Given the description of an element on the screen output the (x, y) to click on. 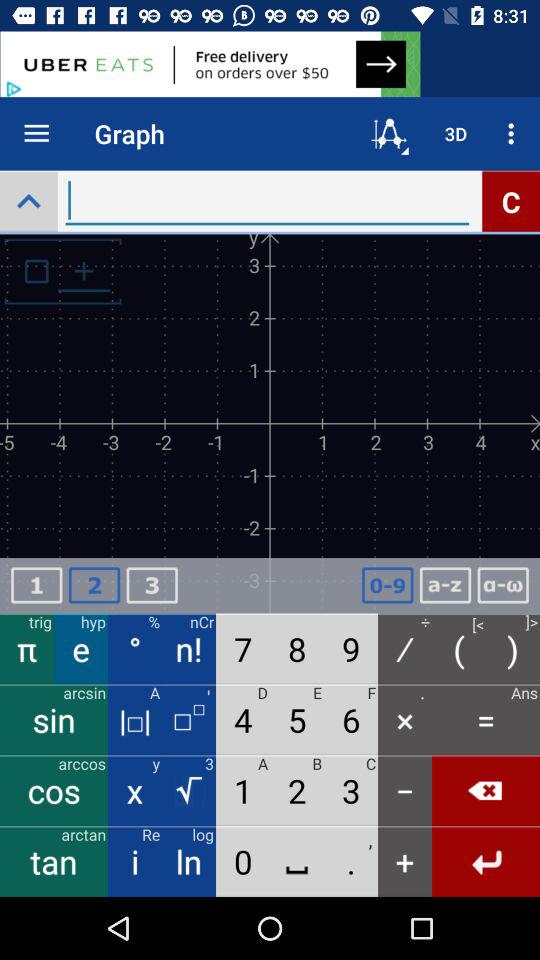
search bar (267, 200)
